Given the description of an element on the screen output the (x, y) to click on. 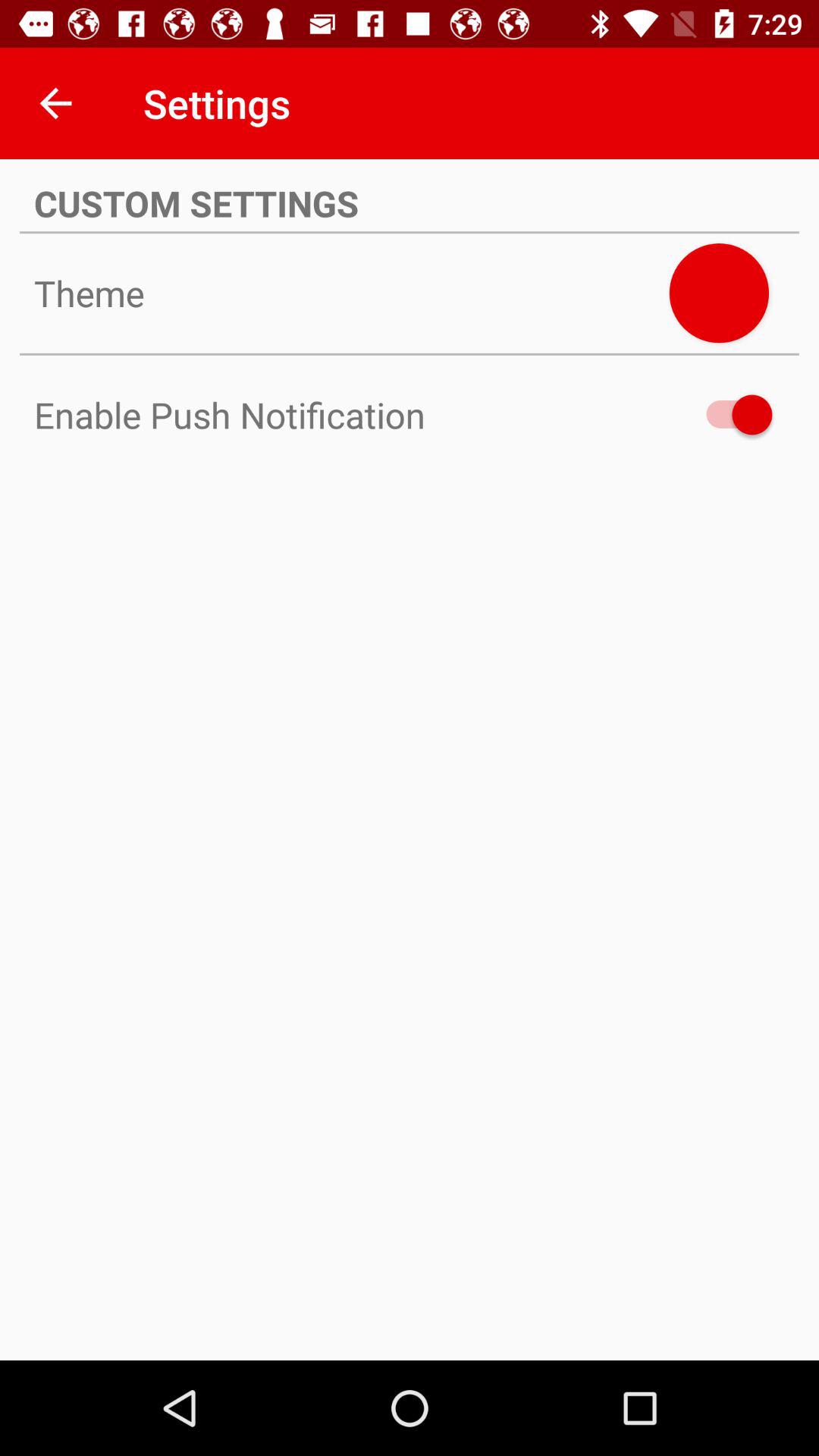
choose icon above custom settings icon (55, 103)
